Given the description of an element on the screen output the (x, y) to click on. 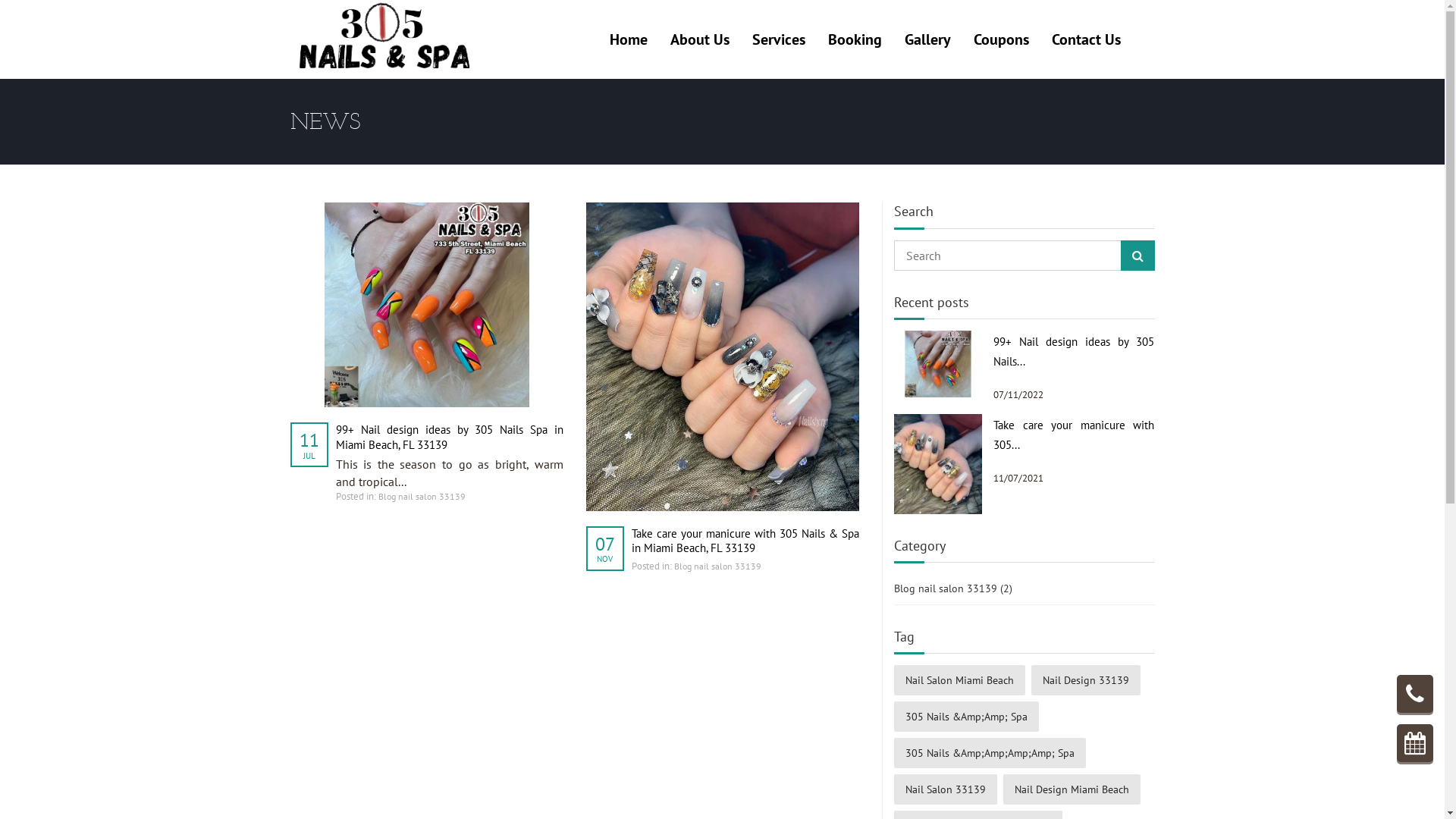
Nail Design 33139 Element type: text (1085, 680)
Gallery Element type: text (926, 39)
305 Nails &Amp;Amp;Amp;Amp; Spa Element type: text (989, 752)
Logo Element type: hover (384, 37)
Blog nail salon 33139 (2) Element type: text (1023, 589)
Nail Salon Miami Beach Element type: text (958, 680)
99+ Nail design ideas by 305 Nails... Element type: text (1073, 351)
Blog nail salon 33139 Element type: text (716, 565)
Take care your manicure with 305... Element type: text (1073, 434)
About Us Element type: text (699, 39)
Services Element type: text (778, 39)
Booking Element type: text (854, 39)
Nail Salon 33139 Element type: text (944, 789)
image recent Element type: hover (937, 462)
Booking Element type: hover (1414, 743)
305 Nails &Amp;Amp; Spa Element type: text (965, 716)
image recent Element type: hover (937, 362)
Nail Design Miami Beach Element type: text (1070, 789)
Contact Us Element type: text (1085, 39)
Blog nail salon 33139 Element type: text (420, 496)
Coupons Element type: text (1001, 39)
Call us Element type: hover (1414, 693)
Home Element type: text (628, 39)
